Given the description of an element on the screen output the (x, y) to click on. 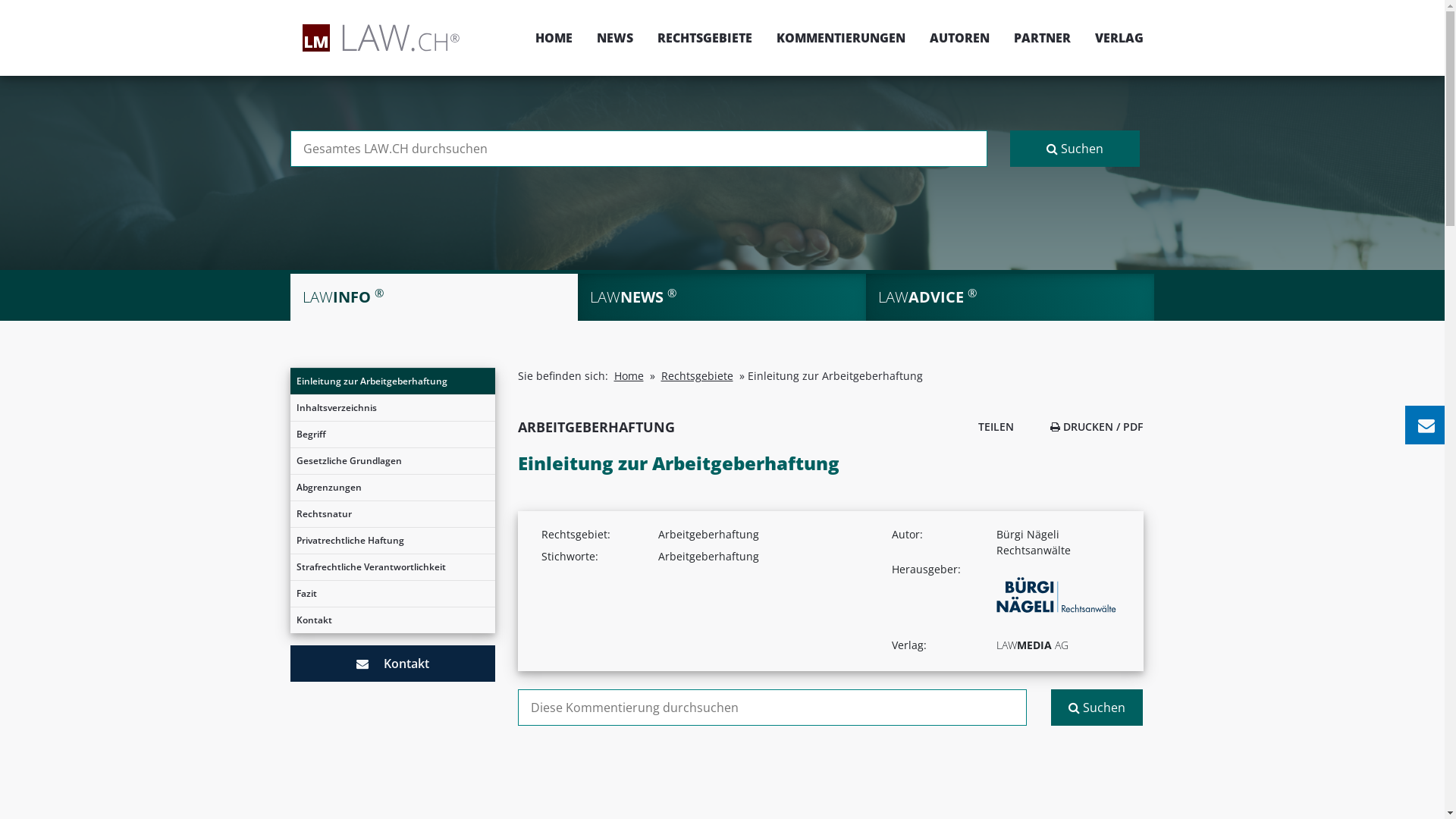
Begriff Element type: text (391, 434)
NEWS Element type: text (613, 37)
    Kontakt Element type: text (391, 663)
Rechtsnatur Element type: text (391, 514)
Gesetzliche Grundlagen Element type: text (391, 460)
Skip to content Element type: text (1443, 0)
Kontakt Element type: text (391, 620)
AUTOREN Element type: text (959, 37)
PARTNER Element type: text (1041, 37)
 TEILEN Element type: text (991, 426)
Abgrenzungen Element type: text (391, 487)
Fazit Element type: text (391, 593)
Suchen nach: Element type: hover (637, 148)
VERLAG Element type: text (1112, 37)
Strafrechtliche Verantwortlichkeit Element type: text (391, 567)
HOME Element type: text (553, 37)
Rechtsgebiete Element type: text (697, 375)
Suchen nach: Element type: hover (771, 707)
Privatrechtliche Haftung Element type: text (391, 540)
RECHTSGEBIETE Element type: text (703, 37)
 DRUCKEN / PDF Element type: text (1096, 426)
KOMMENTIERUNGEN Element type: text (840, 37)
Inhaltsverzeichnis Element type: text (391, 407)
Home Element type: text (628, 375)
Einleitung zur Arbeitgeberhaftung Element type: text (391, 381)
